Given the description of an element on the screen output the (x, y) to click on. 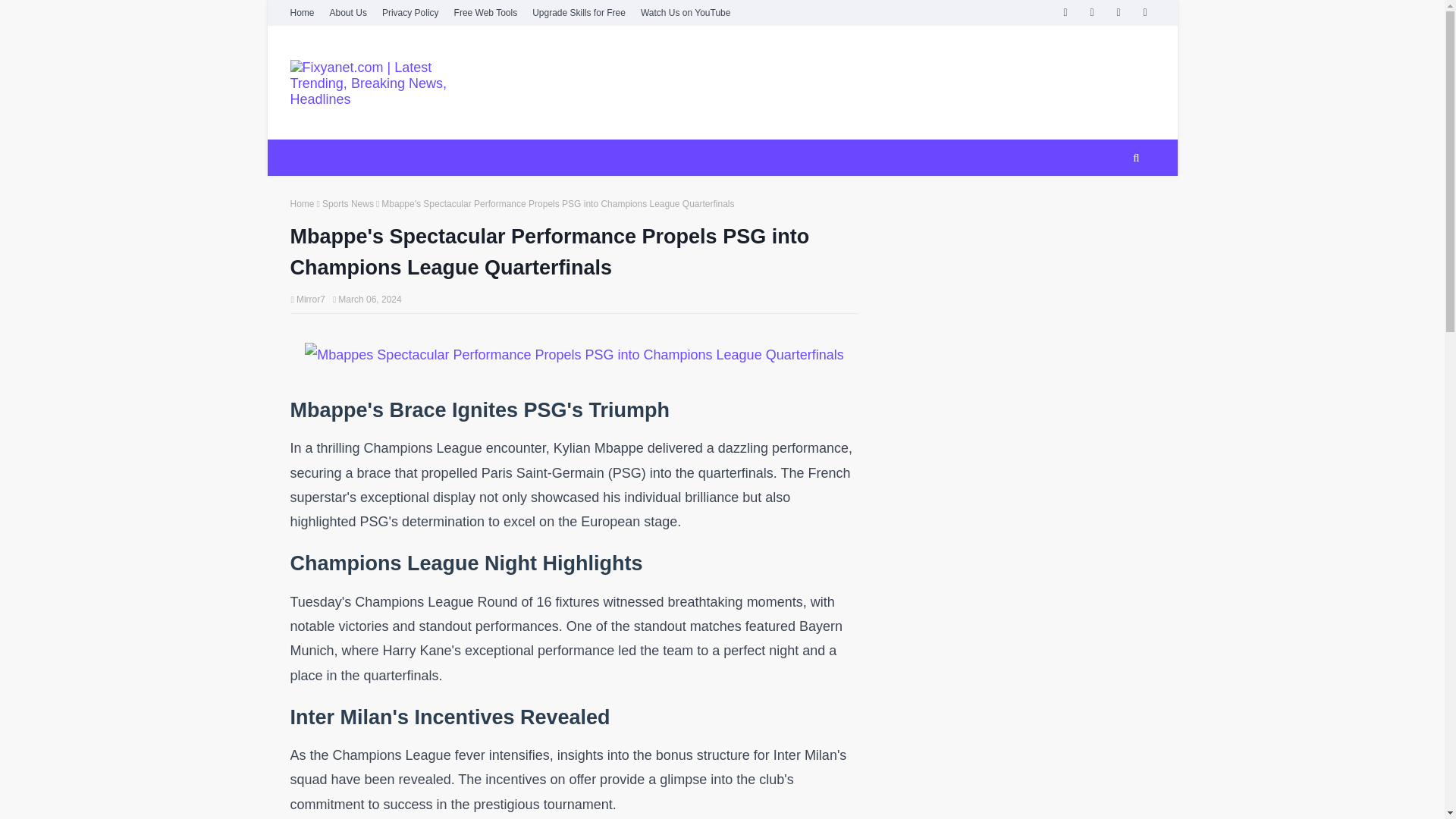
Home (301, 204)
Mirror7 (310, 299)
Privacy Policy (410, 12)
About Us (348, 12)
Watch Us on YouTube (686, 12)
youtube (1117, 12)
Home (303, 12)
Upgrade Skills for Free (578, 12)
facebook (1064, 12)
twitter (1092, 12)
